Given the description of an element on the screen output the (x, y) to click on. 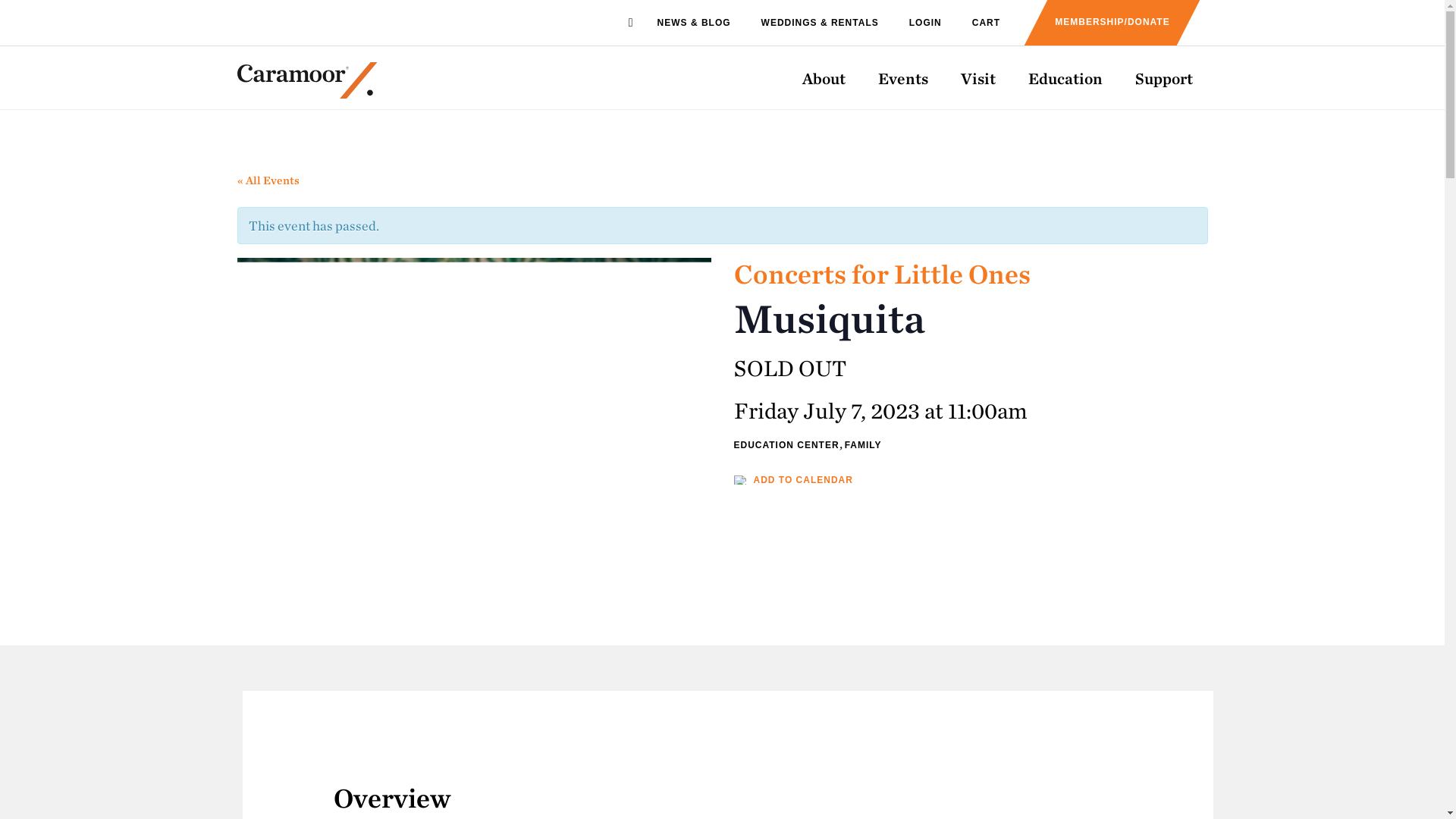
About (823, 77)
Visit (977, 77)
Support (1163, 77)
Education (1065, 77)
CART (985, 22)
Download .ics file (793, 480)
Events (903, 77)
